Given the description of an element on the screen output the (x, y) to click on. 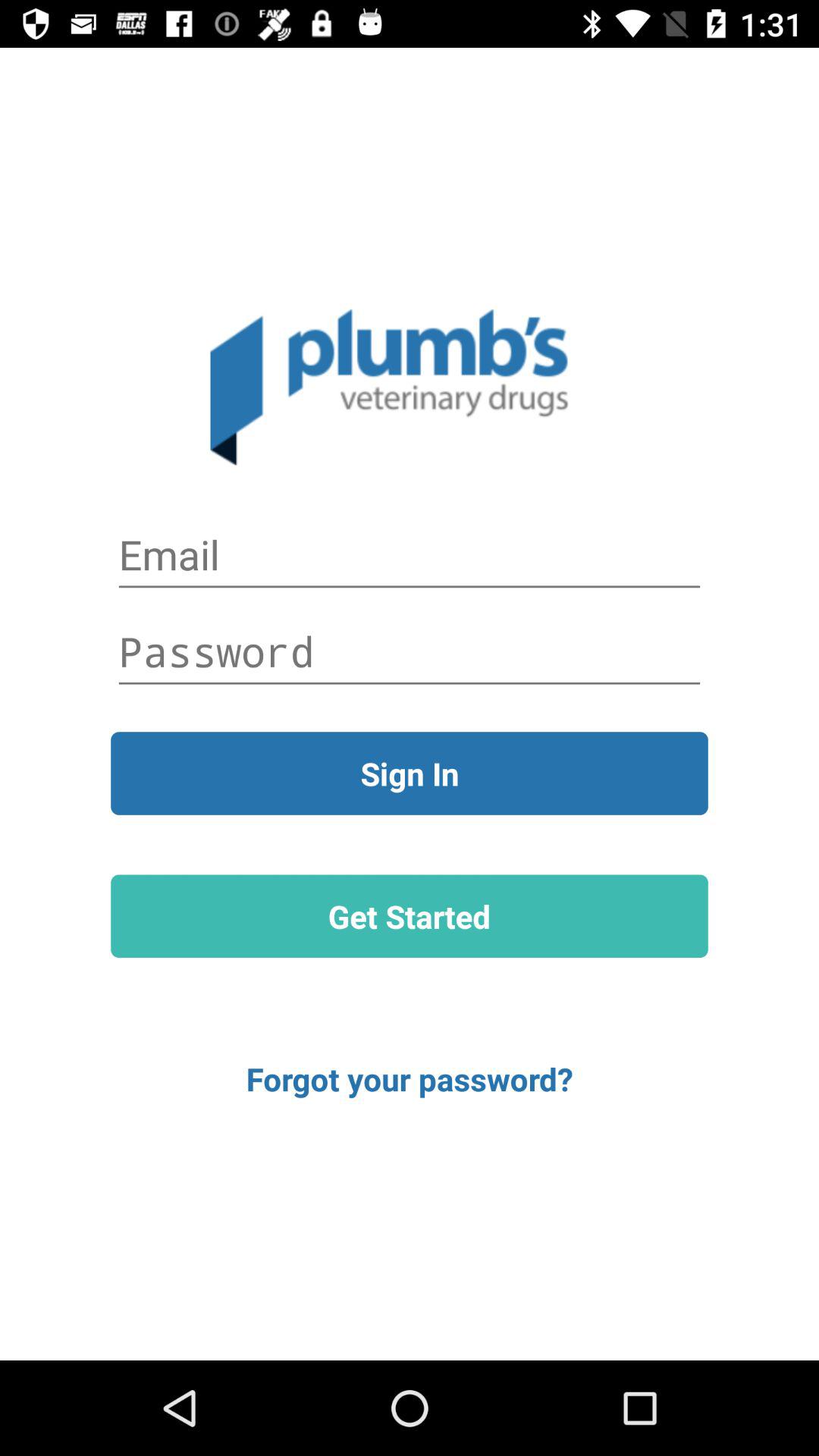
fill in email (409, 554)
